Given the description of an element on the screen output the (x, y) to click on. 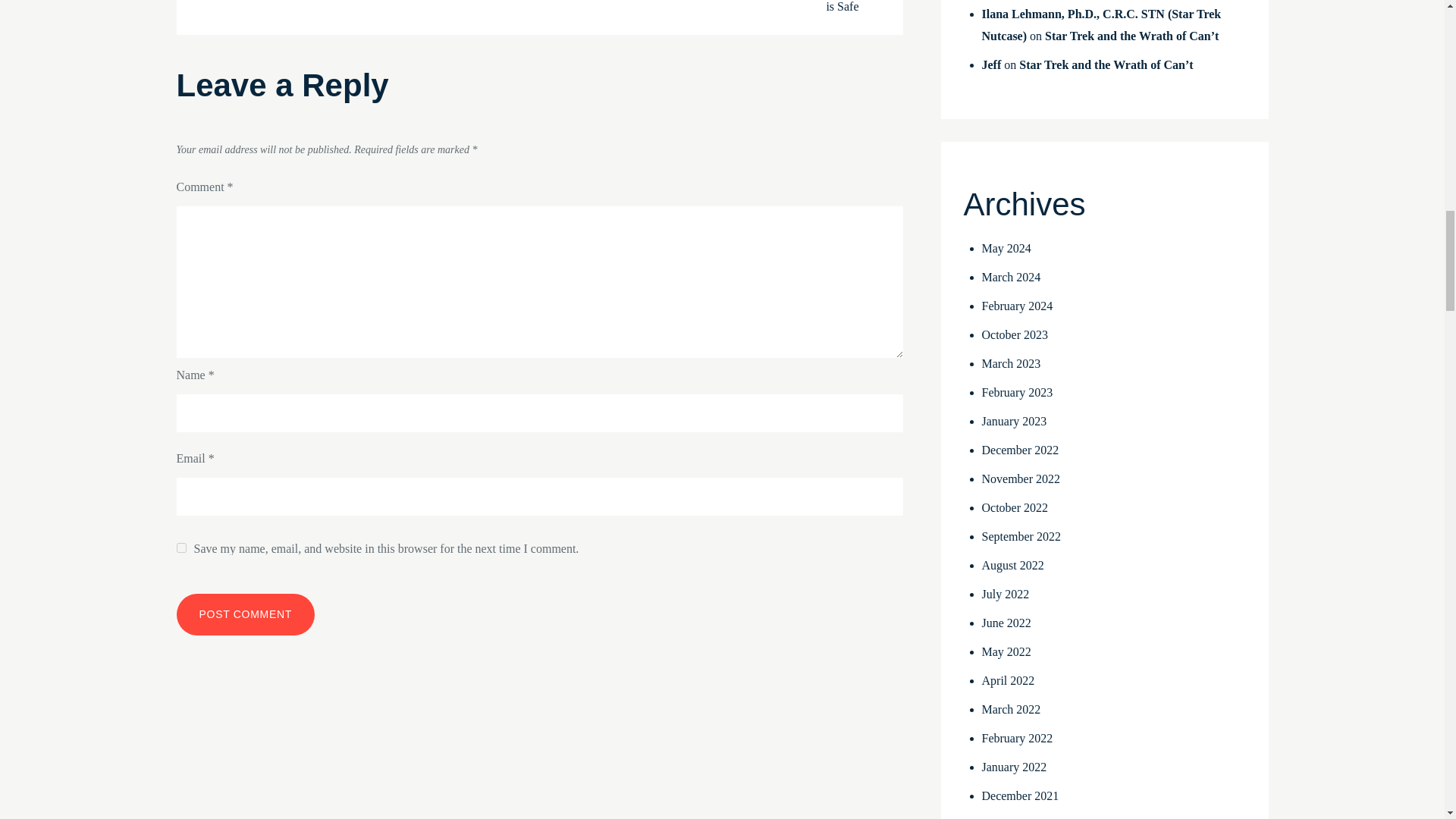
October 2023 (1014, 334)
February 2024 (1016, 305)
March 2023 (1011, 363)
Post Comment (245, 614)
May 2024 (1005, 247)
March 2024 (1011, 277)
Post Comment (245, 614)
yes (181, 547)
